Given the description of an element on the screen output the (x, y) to click on. 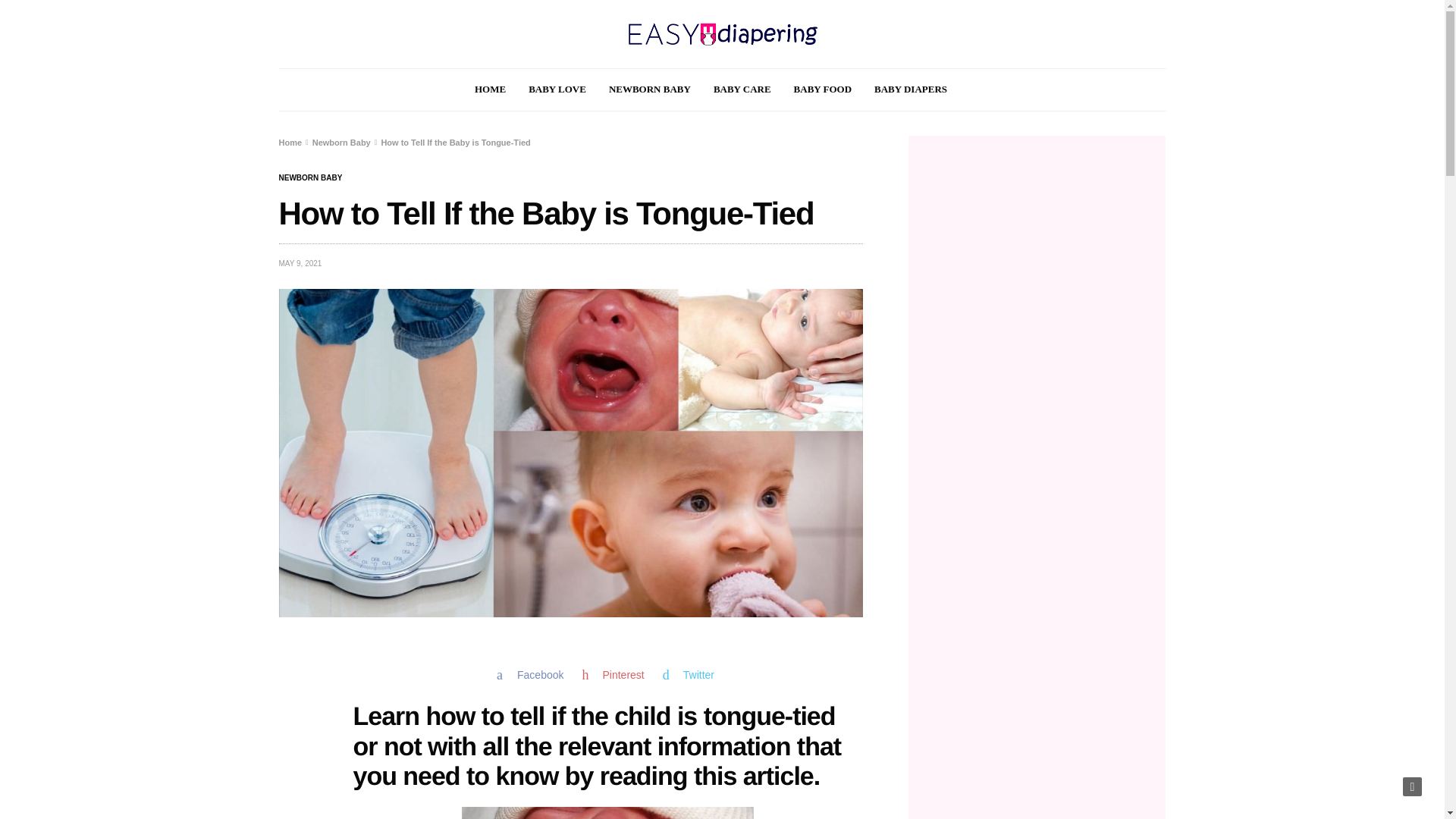
Home (290, 142)
Advertisement (1036, 741)
BABY LOVE (557, 89)
Twitter (689, 674)
BABY CARE (742, 89)
Newborn Baby (310, 177)
NEWBORN BABY (649, 89)
NEWBORN BABY (310, 177)
BABY DIAPERS (911, 89)
BABY FOOD (822, 89)
Facebook (529, 674)
HOME (489, 89)
Newborn Baby (342, 142)
Pinterest (612, 674)
